Given the description of an element on the screen output the (x, y) to click on. 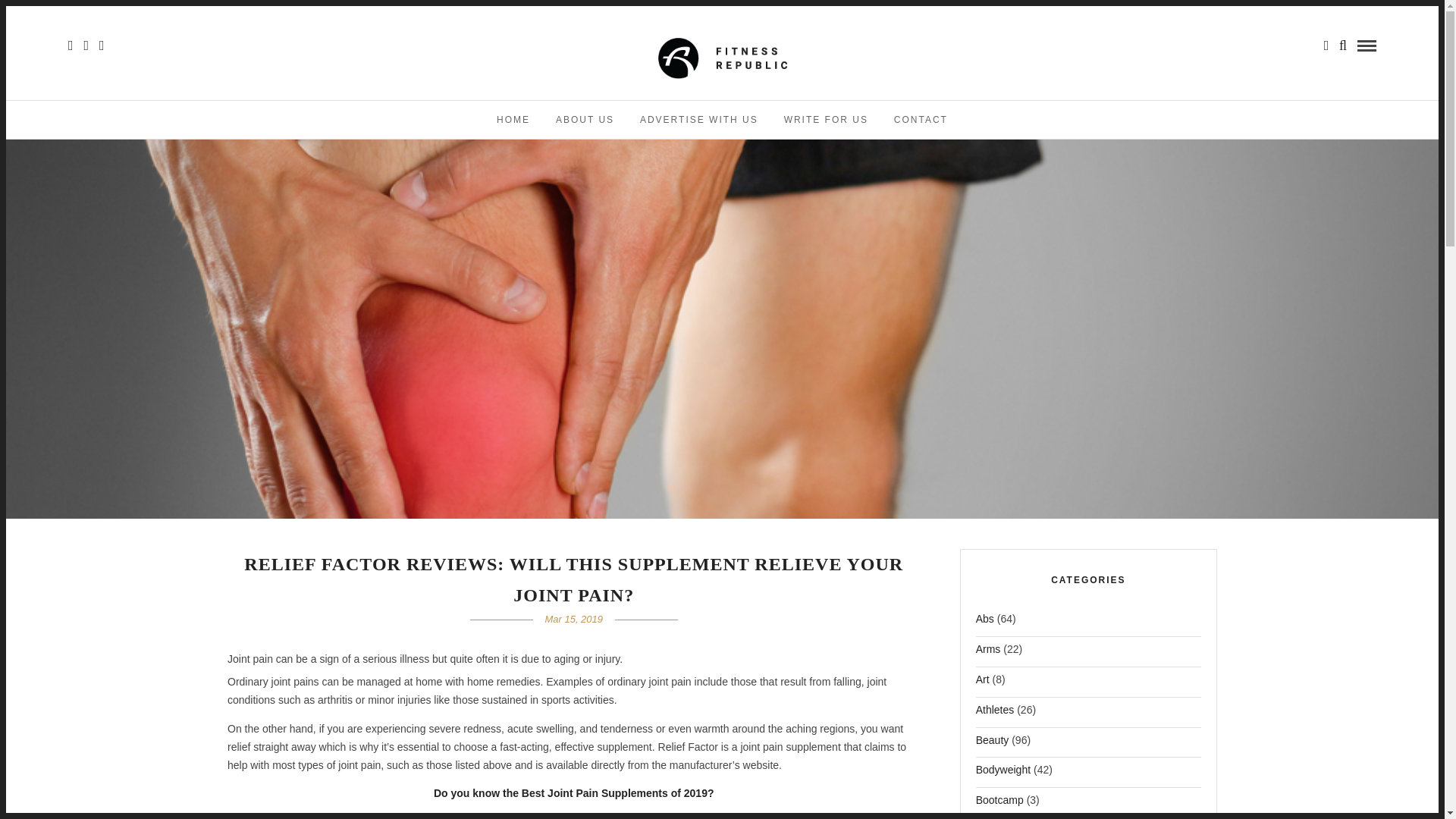
Bootcamp (999, 804)
CONTACT (920, 119)
HOME (512, 119)
ADVERTISE WITH US (699, 119)
WRITE FOR US (826, 119)
Arms (988, 653)
Beauty (992, 744)
Bodyweight (1002, 774)
Do you know the Best Joint Pain Supplements of 2019? (573, 793)
Athletes (994, 714)
ABOUT US (585, 119)
